Given the description of an element on the screen output the (x, y) to click on. 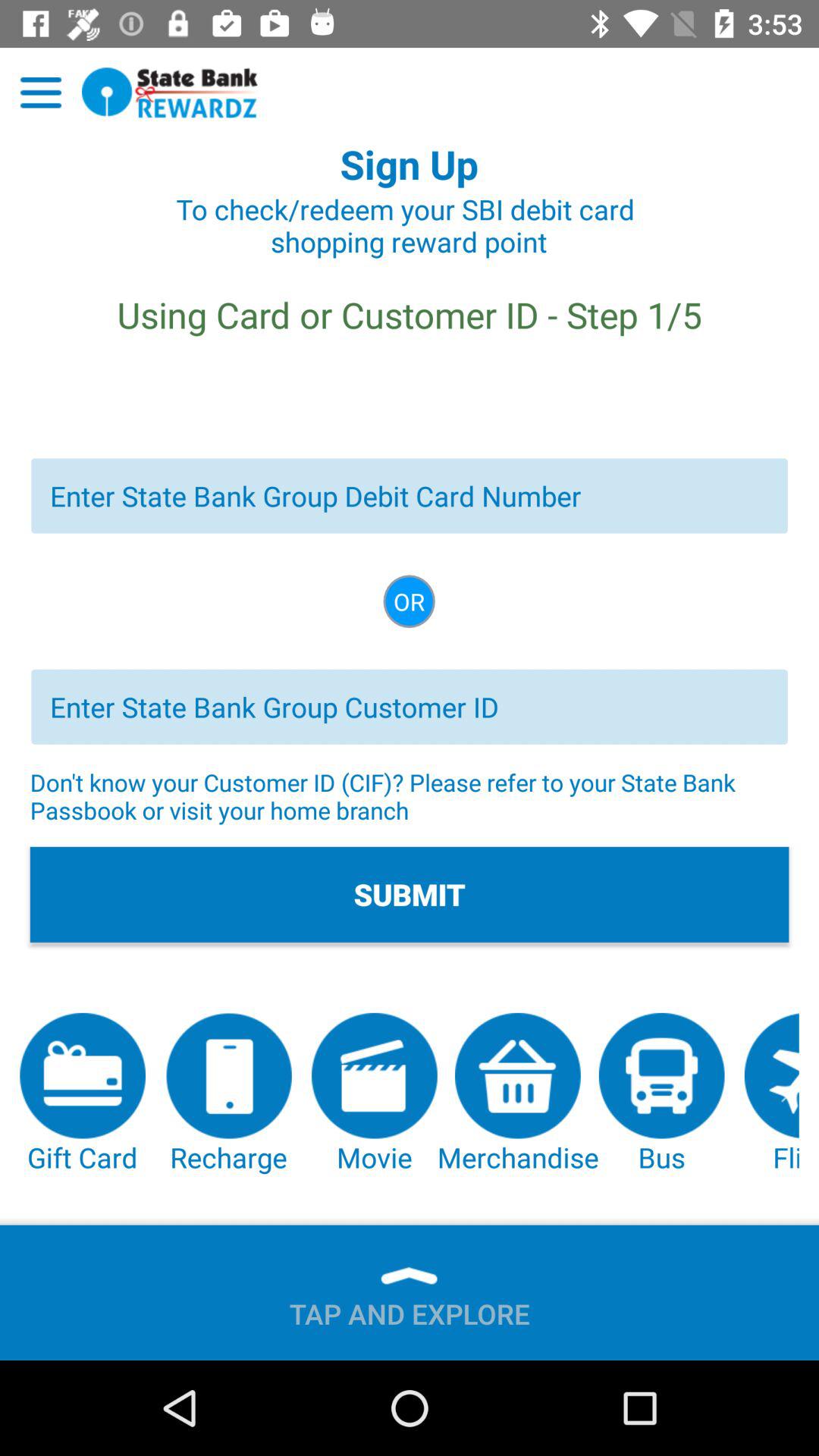
swipe until the gift card (82, 1094)
